Given the description of an element on the screen output the (x, y) to click on. 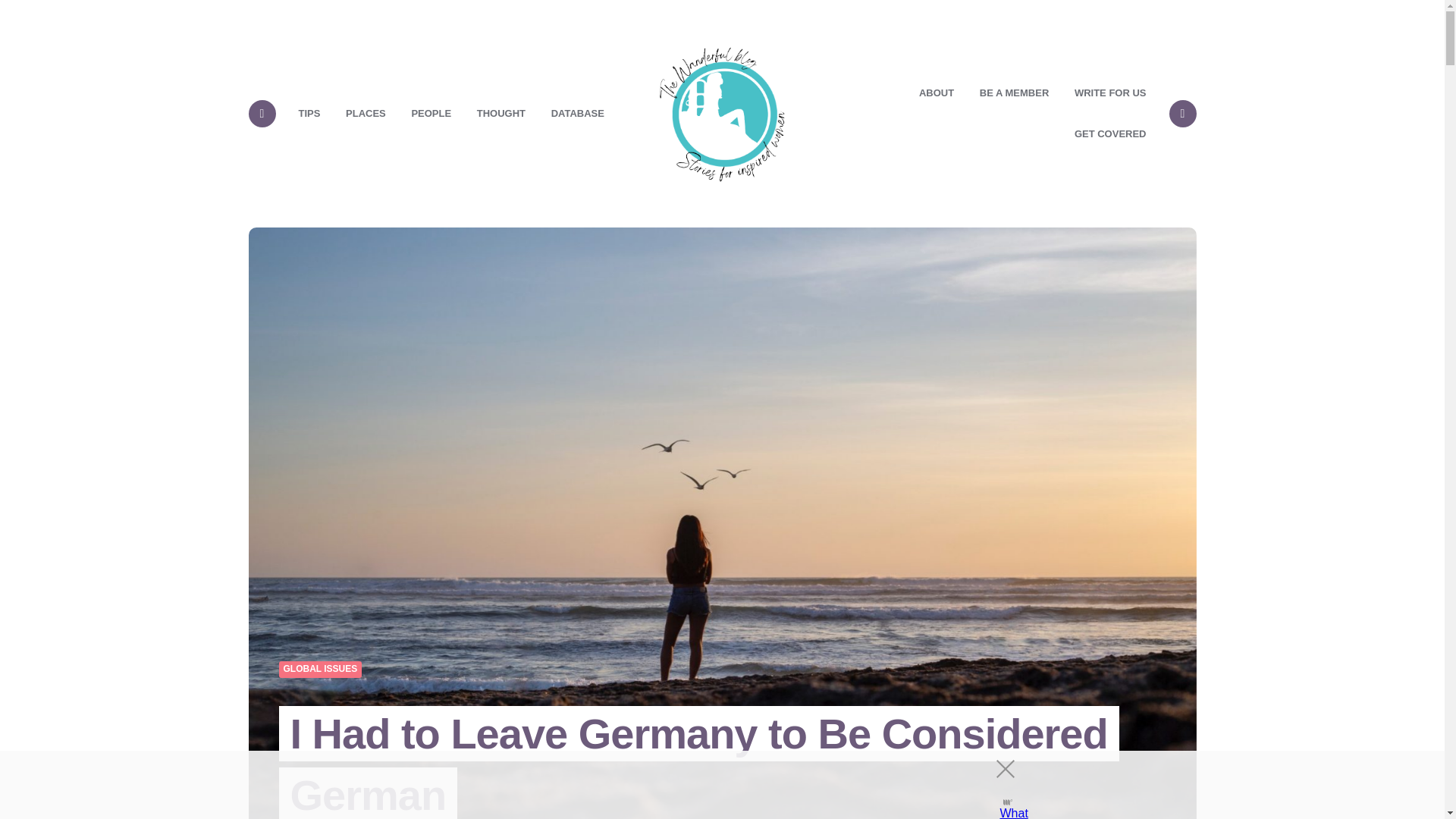
GLOBAL ISSUES (320, 669)
GET COVERED (1109, 133)
ABOUT (936, 92)
WRITE FOR US (1109, 92)
PLACES (365, 113)
PEOPLE (430, 113)
TIPS (308, 113)
THOUGHT (501, 113)
3rd party ad content (708, 785)
BE A MEMBER (1013, 92)
DATABASE (577, 113)
